Given the description of an element on the screen output the (x, y) to click on. 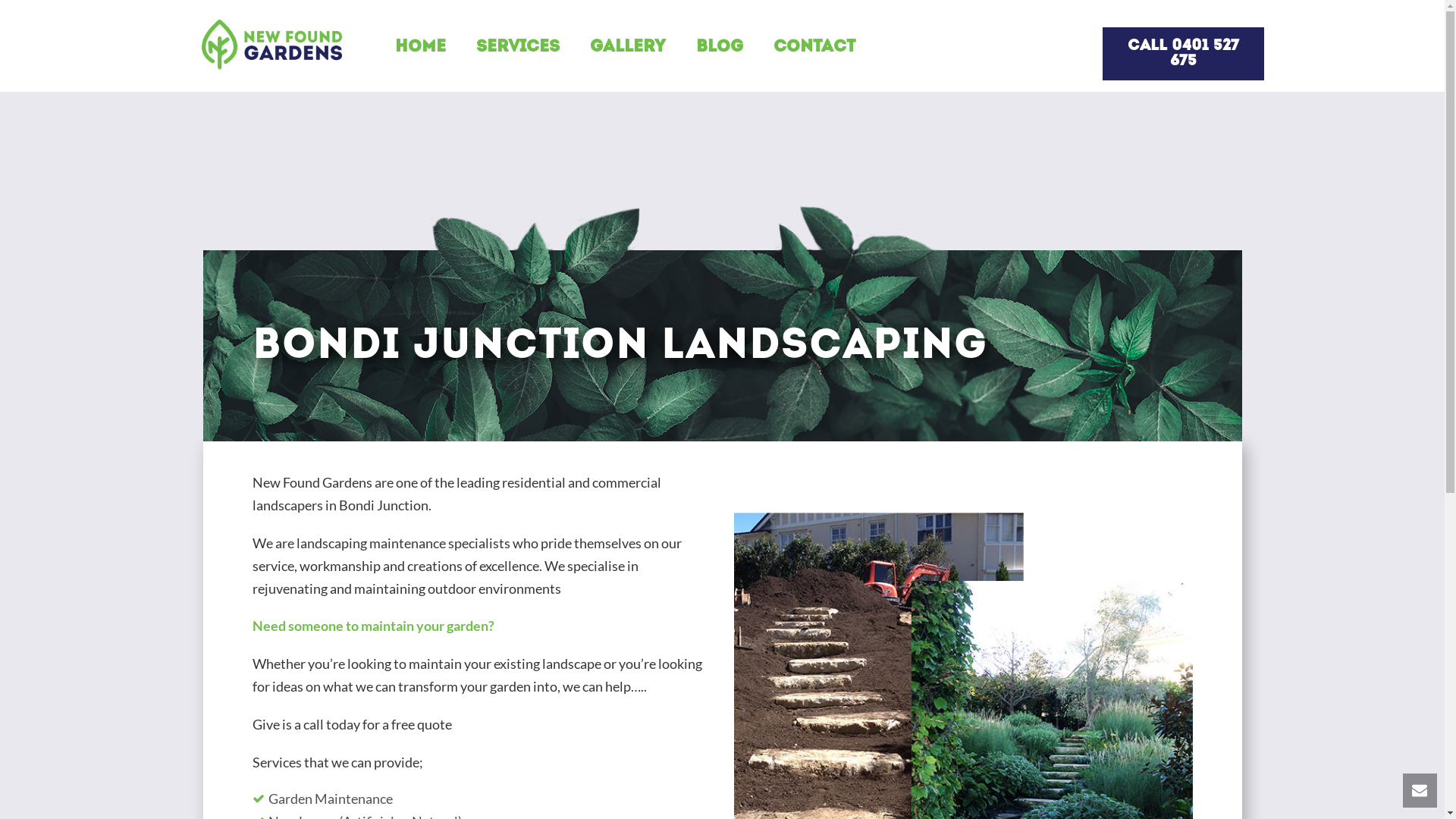
Services Element type: text (502, 47)
Blog Element type: text (704, 47)
Quality Garden Building & Maintenance Element type: hover (271, 44)
HOME Element type: text (404, 47)
Contact Element type: text (799, 47)
CALL 0401 527 675 Element type: text (1183, 53)
Gallery Element type: text (612, 47)
